Given the description of an element on the screen output the (x, y) to click on. 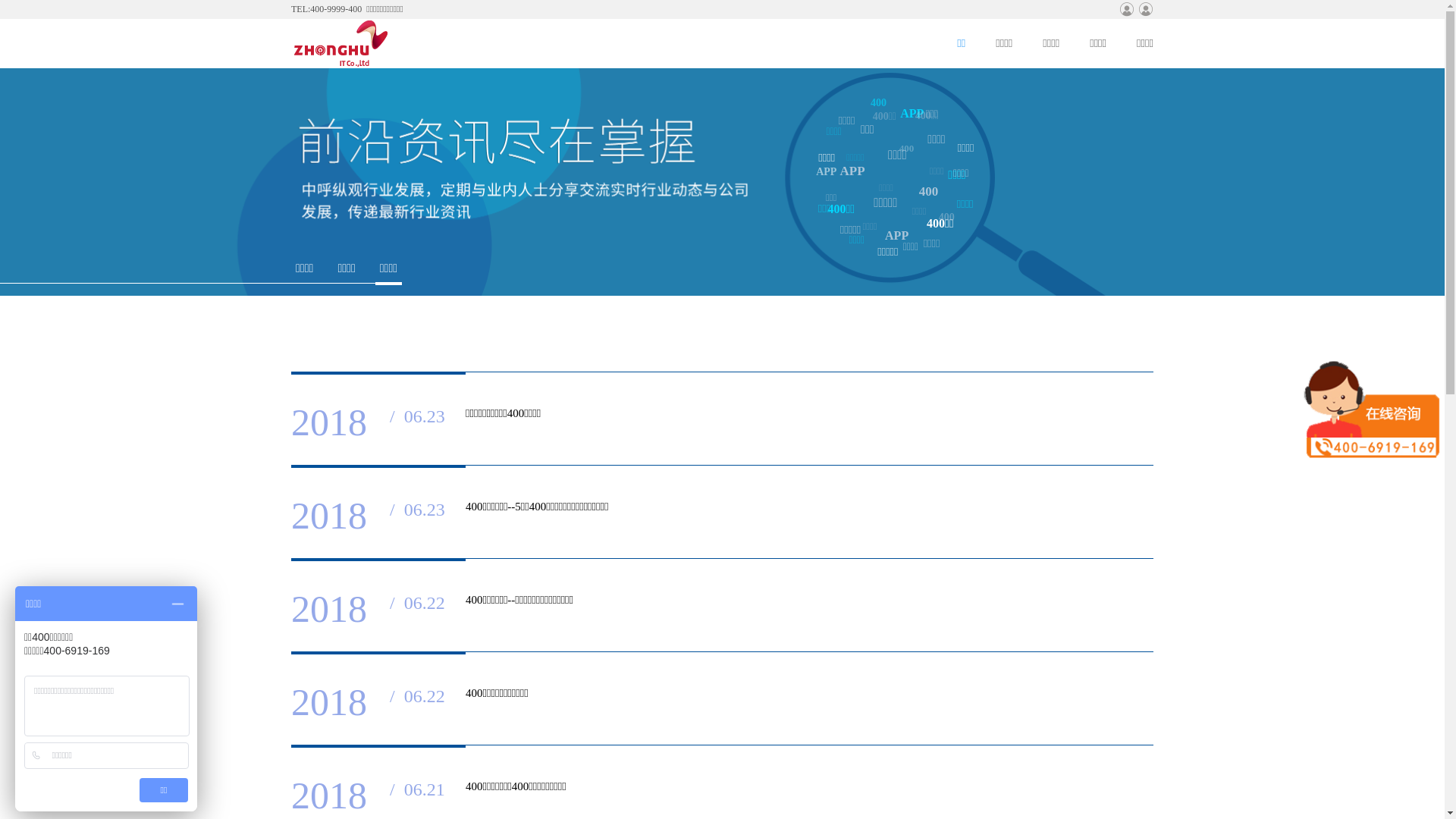
400 Element type: text (906, 148)
400 Element type: text (928, 191)
APP Element type: text (851, 171)
APP Element type: text (825, 171)
400 Element type: text (878, 102)
400 Element type: text (946, 217)
APP Element type: text (911, 113)
APP Element type: text (896, 235)
